Given the description of an element on the screen output the (x, y) to click on. 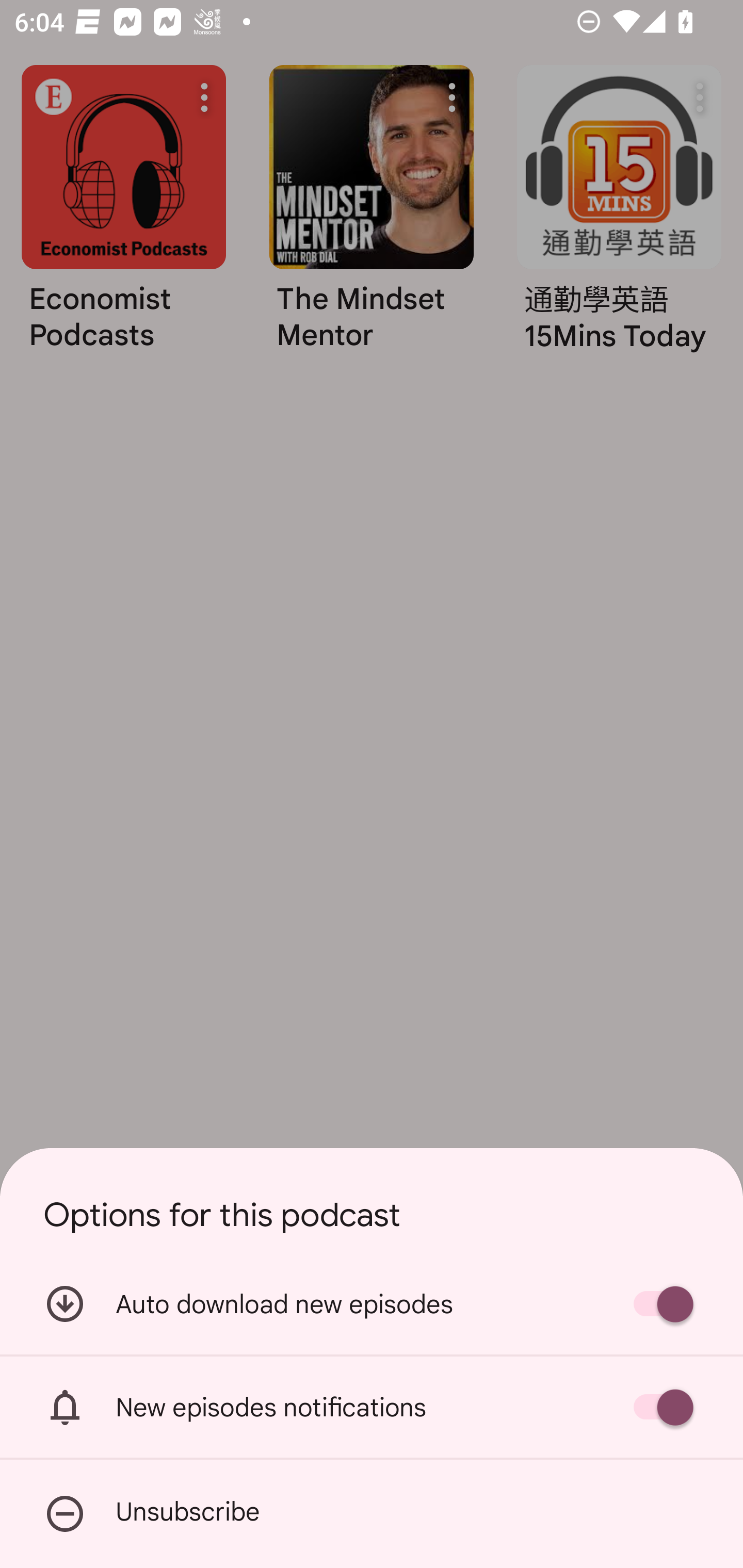
Auto download new episodes (371, 1303)
New episodes notifications (371, 1407)
Unsubscribe (371, 1513)
